Given the description of an element on the screen output the (x, y) to click on. 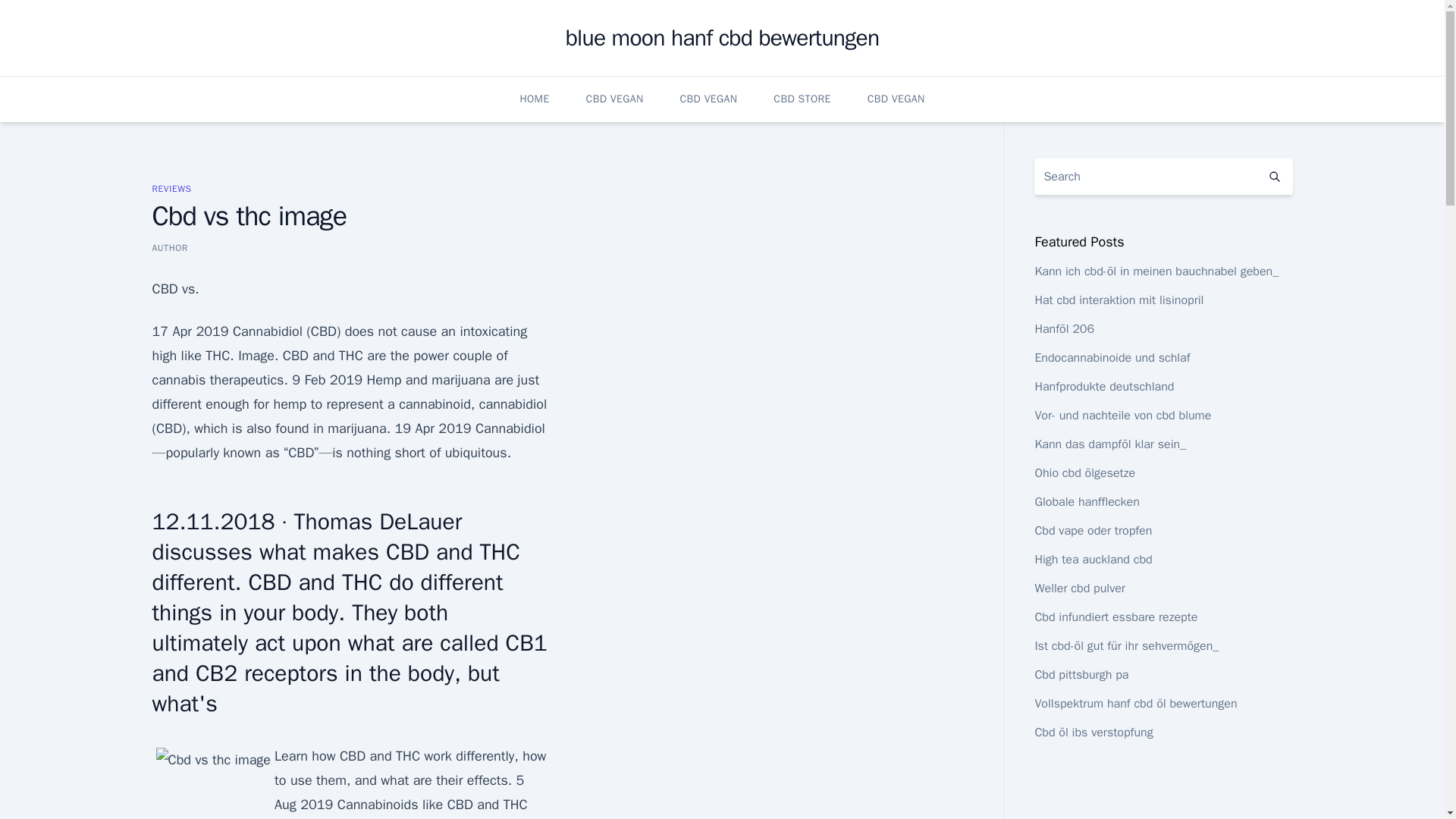
Hat cbd interaktion mit lisinopril (1118, 299)
REVIEWS (170, 188)
CBD VEGAN (895, 99)
AUTHOR (169, 247)
CBD STORE (801, 99)
CBD VEGAN (707, 99)
CBD VEGAN (614, 99)
blue moon hanf cbd bewertungen (722, 37)
